Given the description of an element on the screen output the (x, y) to click on. 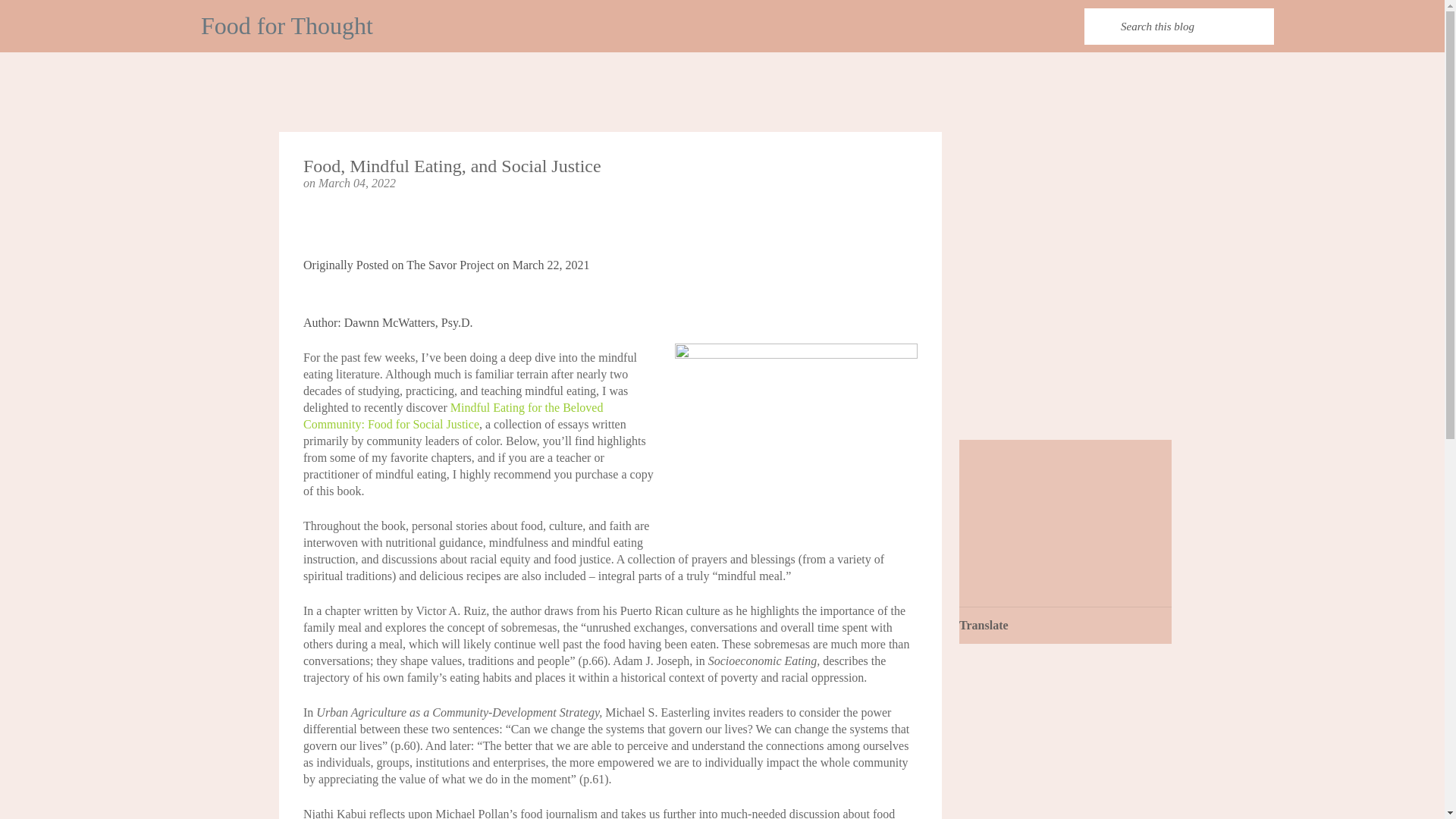
March 04, 2022 (357, 182)
permanent link (357, 182)
Food for Thought (286, 25)
